Given the description of an element on the screen output the (x, y) to click on. 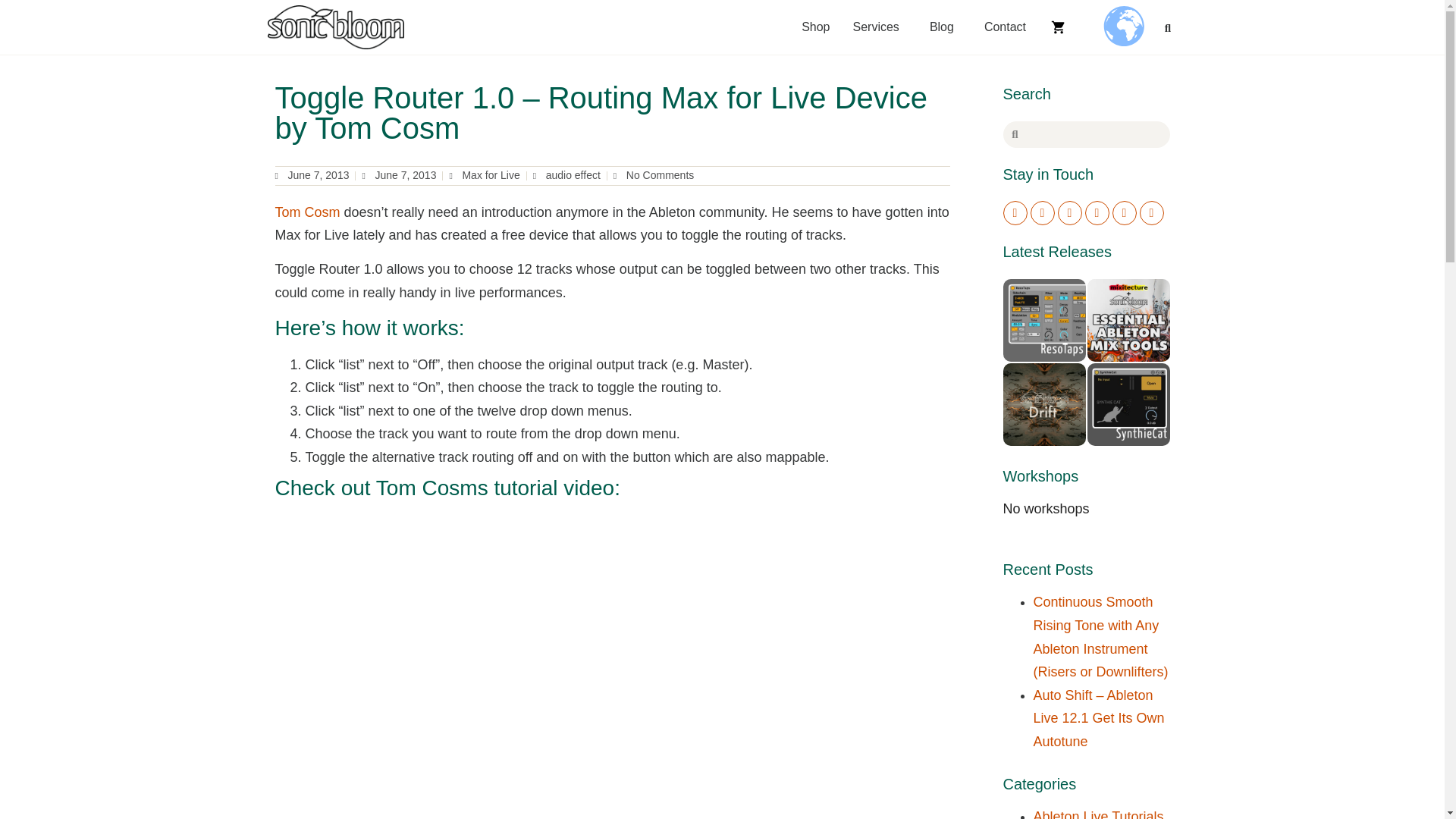
Shop (815, 27)
Services (879, 27)
Blog (945, 27)
Contact (1008, 27)
